Given the description of an element on the screen output the (x, y) to click on. 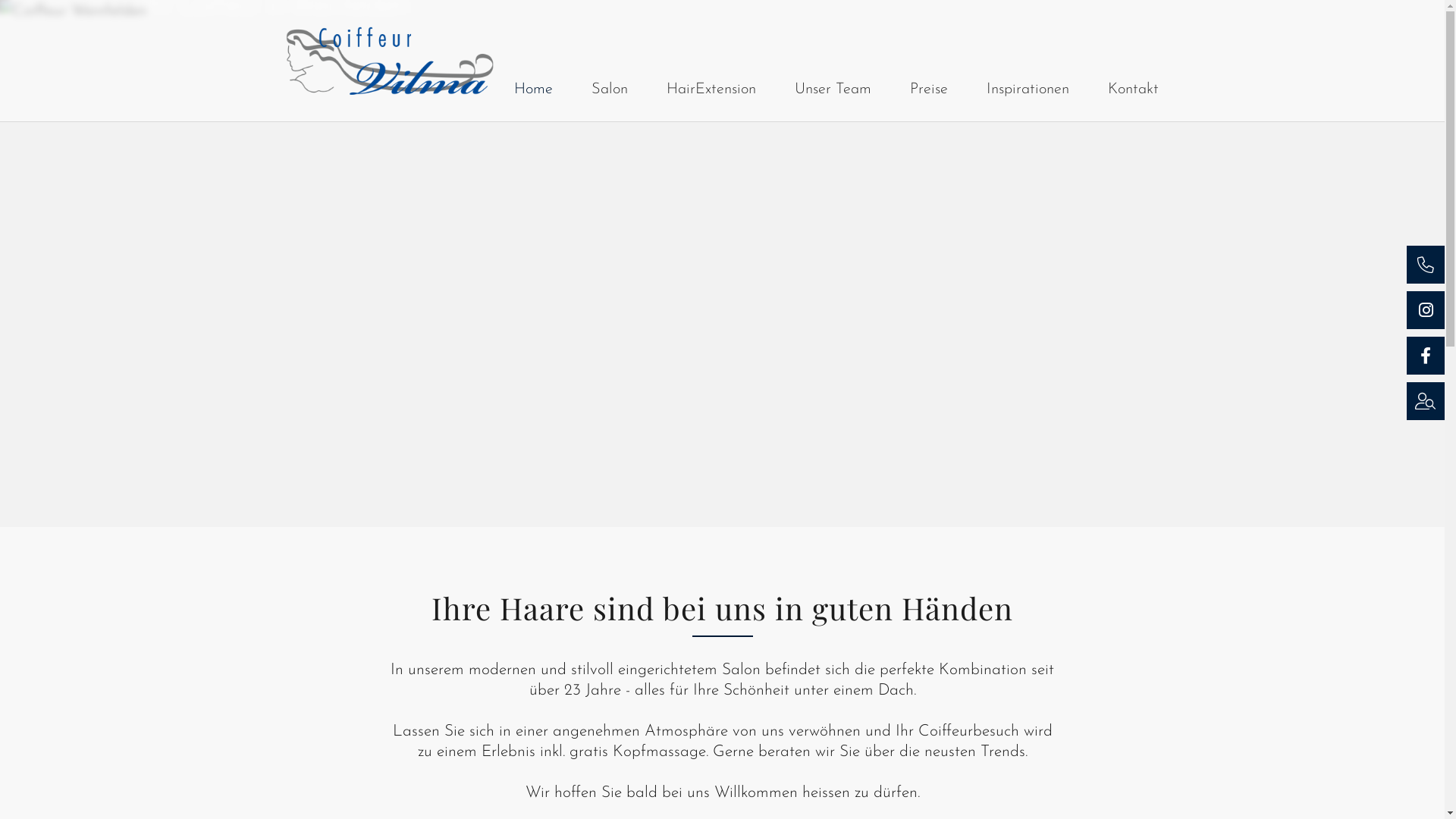
Inspirationen Element type: text (1026, 89)
Unser Team Element type: text (832, 89)
Preise Element type: text (928, 89)
Home Element type: text (533, 89)
HairExtension Element type: text (710, 89)
Kontakt Element type: text (1132, 89)
Salon Element type: text (609, 89)
